Given the description of an element on the screen output the (x, y) to click on. 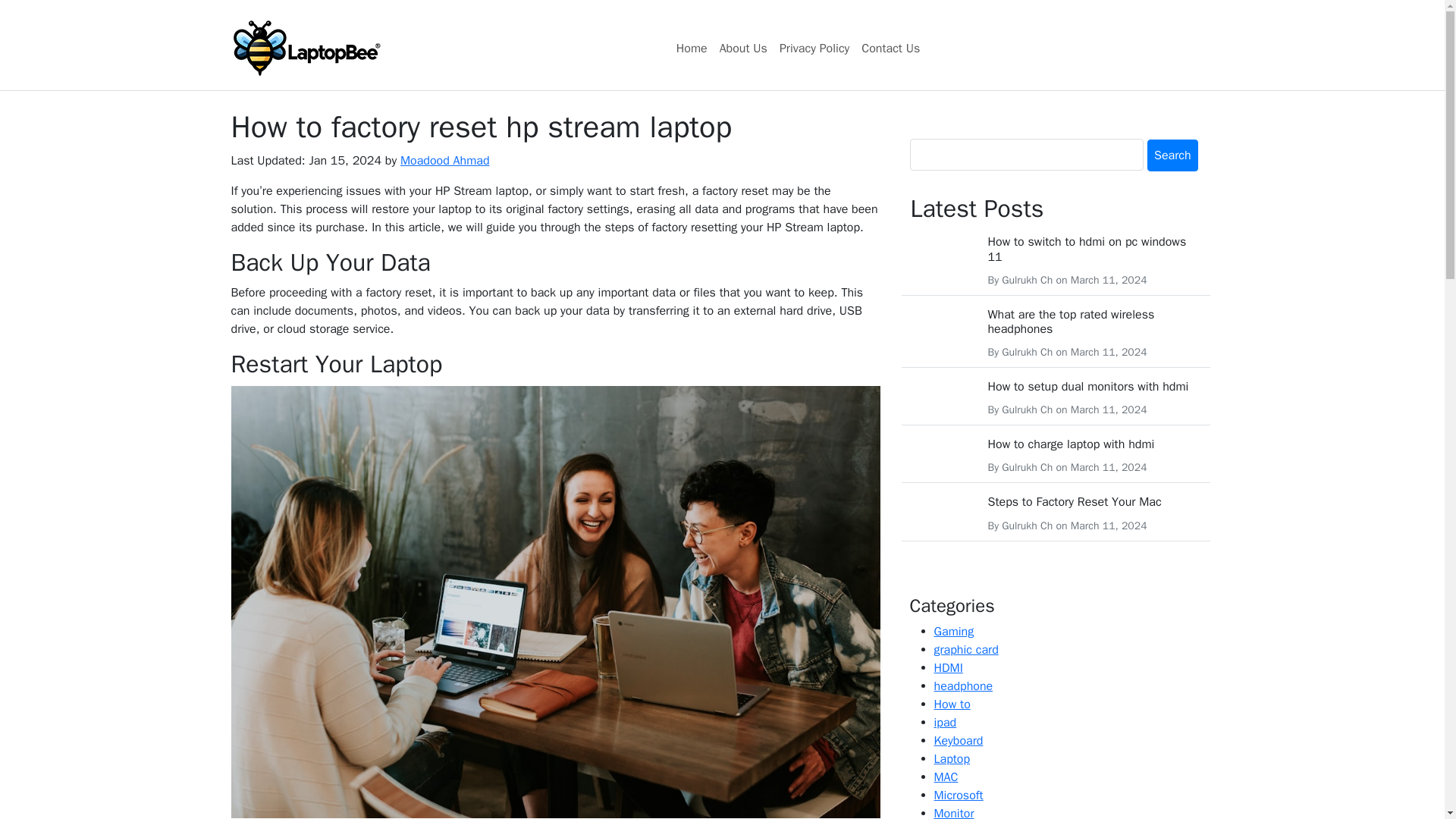
About Us (743, 48)
ipad (945, 722)
How to (952, 703)
HDMI (948, 667)
Laptop (952, 758)
How to setup dual monitors with hdmi (1087, 386)
What are the top rated wireless headphones (1070, 321)
How to charge laptop with hdmi (1070, 444)
How to switch to hdmi on pc windows 11 (1086, 248)
Posts by Moadood Ahmad (444, 160)
MAC (946, 776)
Keyboard (959, 740)
Privacy Policy (814, 48)
Search (1172, 155)
Home (691, 48)
